Given the description of an element on the screen output the (x, y) to click on. 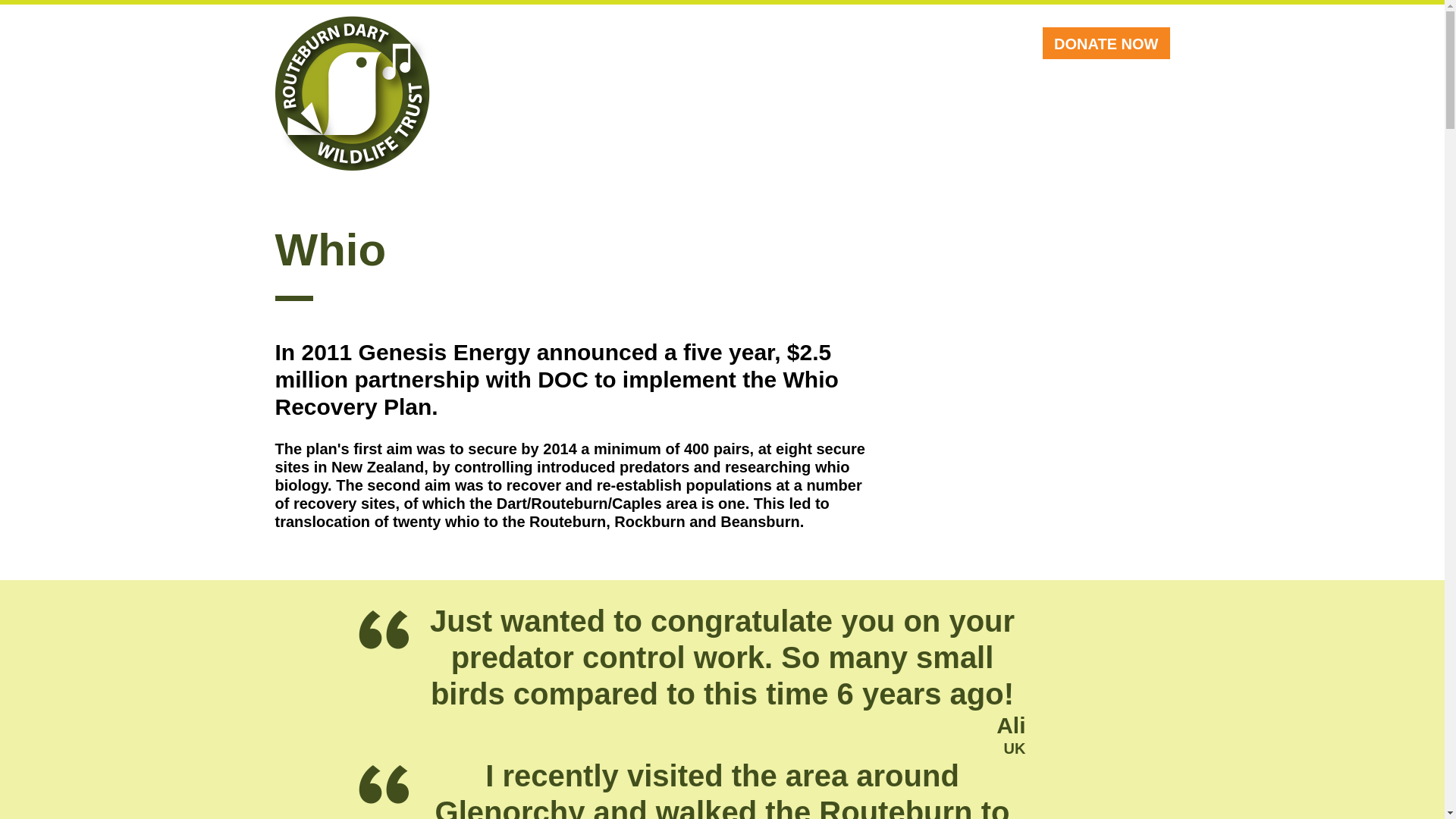
whio (832, 466)
PREDATORS (700, 43)
WILDLIFE (594, 43)
PROJECTS (810, 43)
DONATE NOW (1105, 42)
CONTACT (979, 43)
ABOUT (510, 43)
NEWS (897, 43)
